Given the description of an element on the screen output the (x, y) to click on. 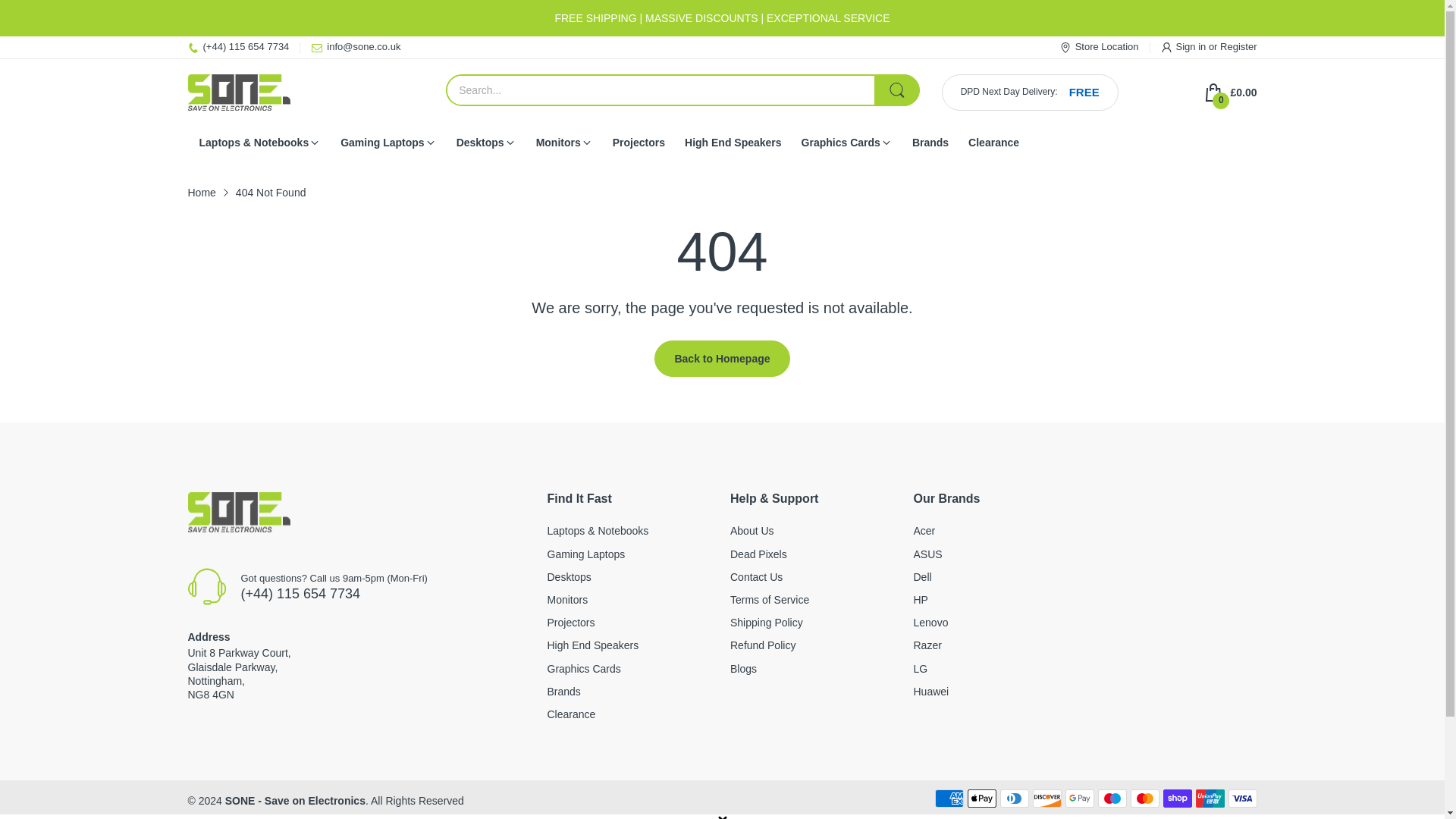
High End Speakers (732, 142)
Projectors (638, 142)
Gaming Laptops (586, 553)
Clearance (993, 142)
Monitors (557, 142)
About Us (752, 530)
Store Location (1098, 47)
Graphics Cards (841, 142)
Gaming Laptops (381, 142)
Blogs (743, 668)
Back to Homepage (721, 358)
High End Speakers (593, 645)
Home (201, 192)
Register (1238, 46)
Dead Pixels (758, 553)
